Given the description of an element on the screen output the (x, y) to click on. 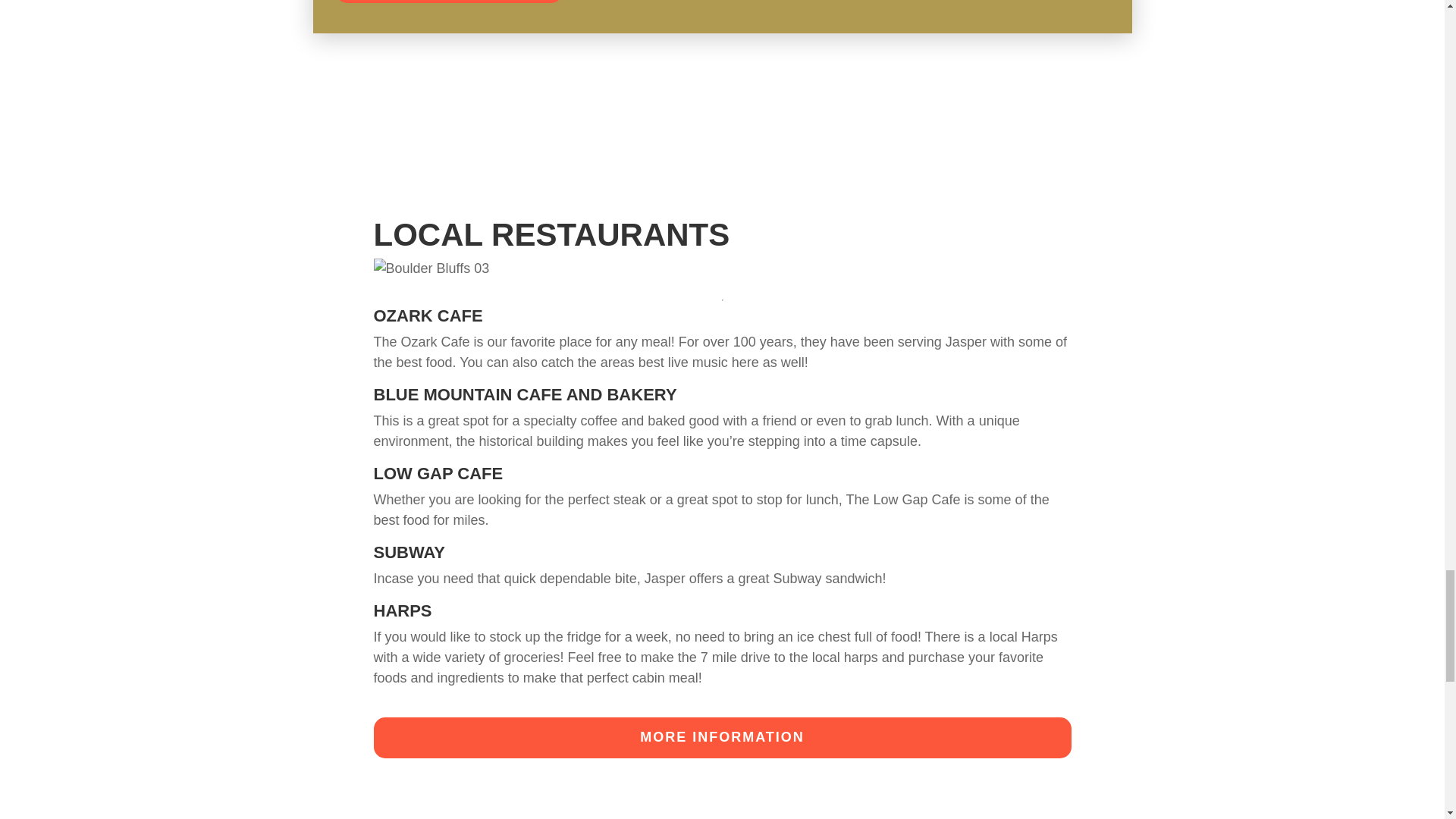
MORE INFORMATION (721, 737)
